Given the description of an element on the screen output the (x, y) to click on. 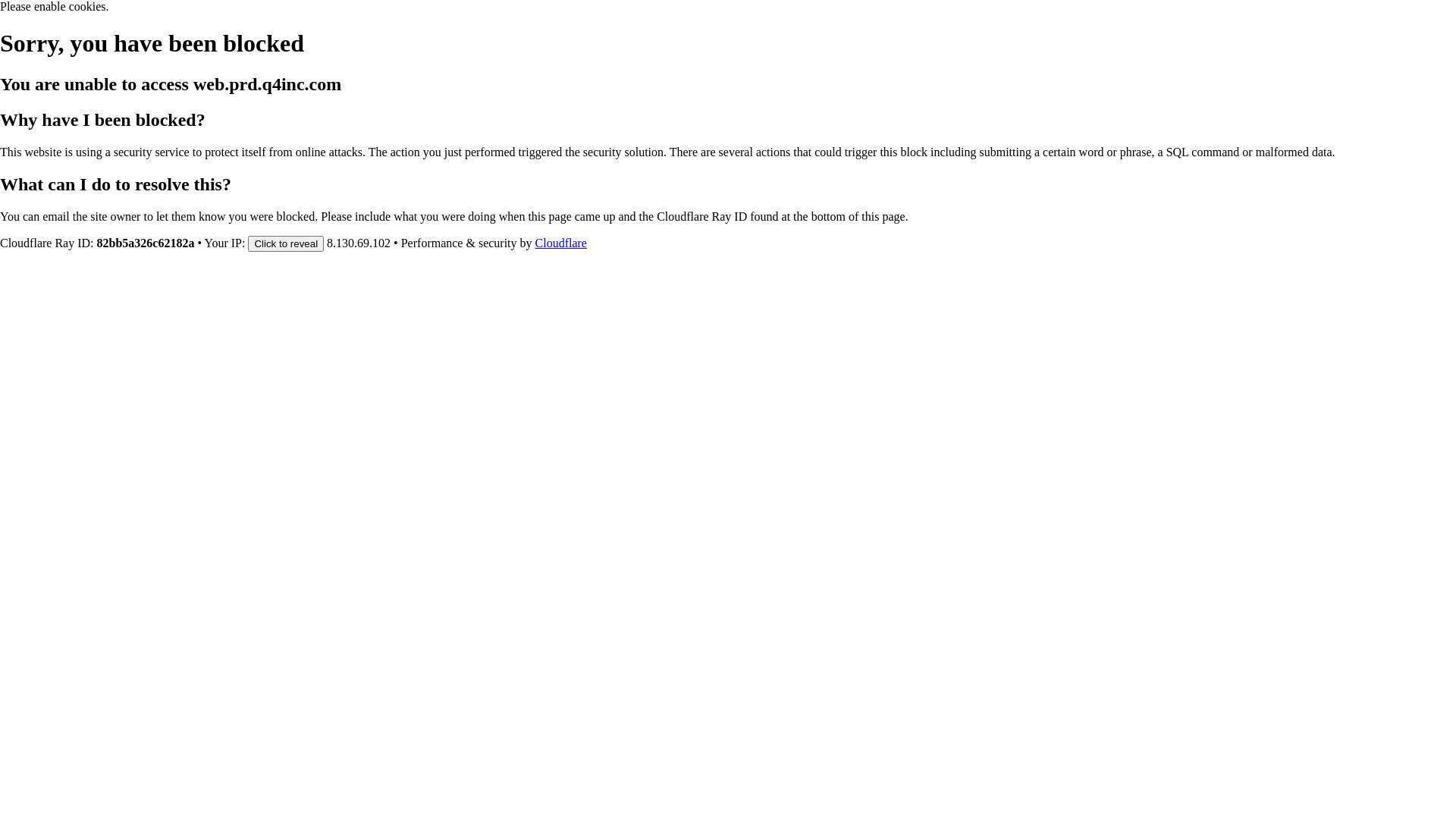
Click to reveal Element type: text (285, 243)
Cloudflare Element type: text (560, 242)
